Given the description of an element on the screen output the (x, y) to click on. 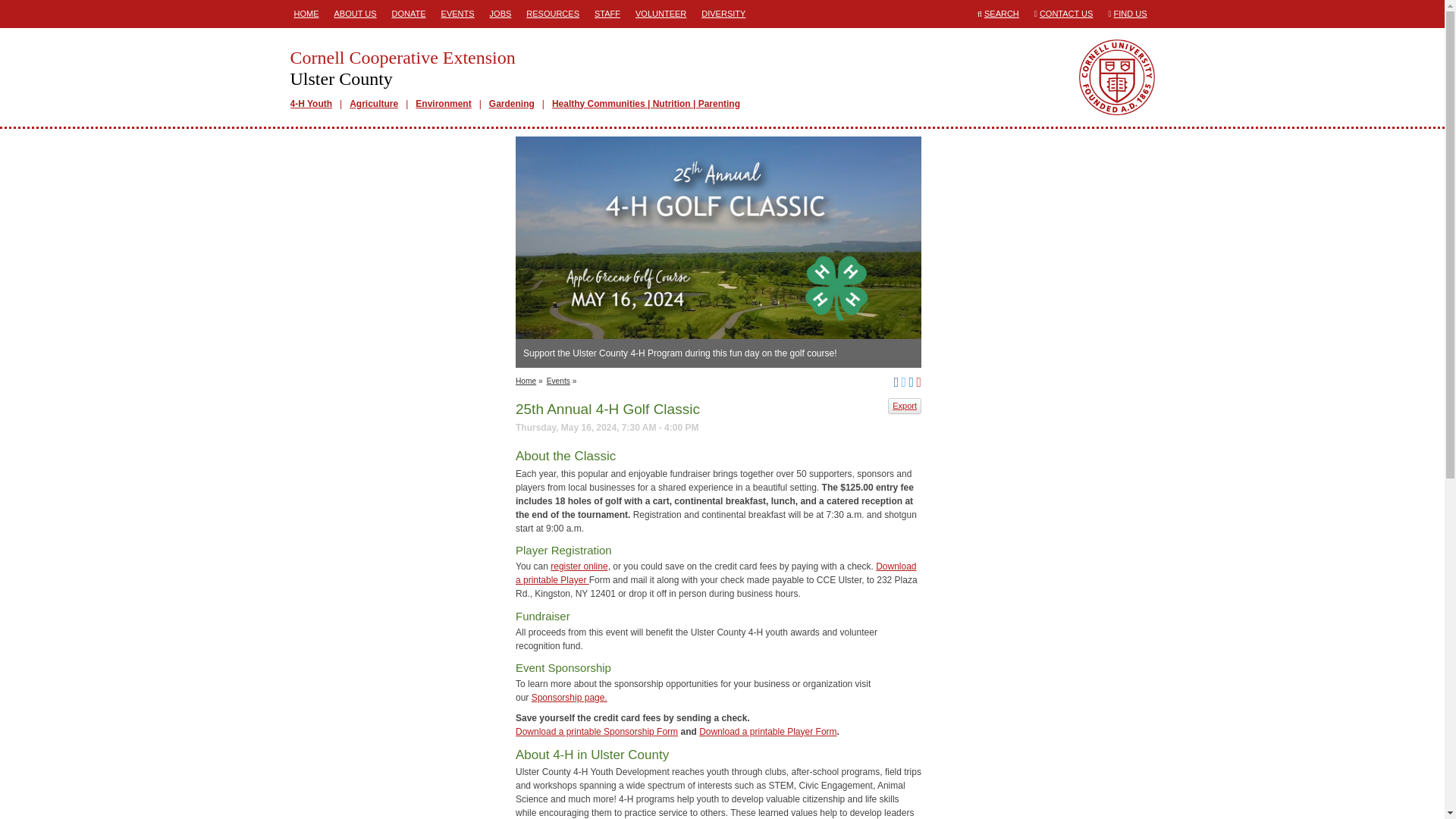
HOME (305, 13)
4-H Youth (310, 103)
SEARCH (1001, 13)
Gardening (511, 103)
FIND US (1130, 13)
Download a printable Player (716, 573)
VOLUNTEER (660, 13)
Export (904, 406)
EVENTS (458, 13)
CONTACT US (1066, 13)
Events (558, 380)
Home (525, 380)
JOBS (500, 13)
Sponsorship page. (675, 67)
